Given the description of an element on the screen output the (x, y) to click on. 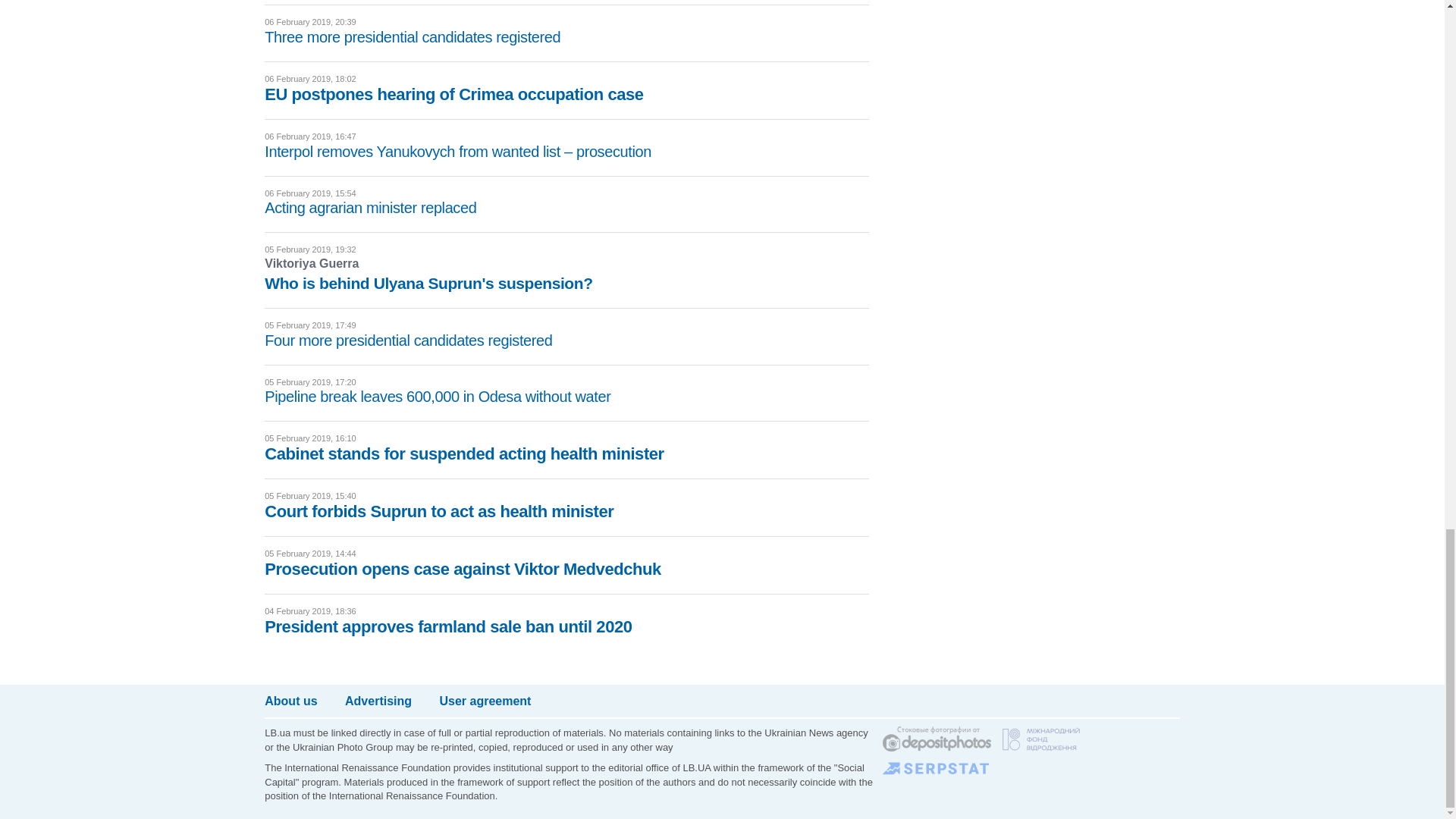
Who is behind Ulyana Suprun's suspension? (428, 282)
Pipeline break leaves 600,000 in Odesa without water (437, 396)
Four more presidential candidates registered (407, 340)
Acting agrarian minister replaced (370, 207)
EU postpones hearing of Crimea occupation case (453, 94)
Three more presidential candidates registered (412, 36)
